Given the description of an element on the screen output the (x, y) to click on. 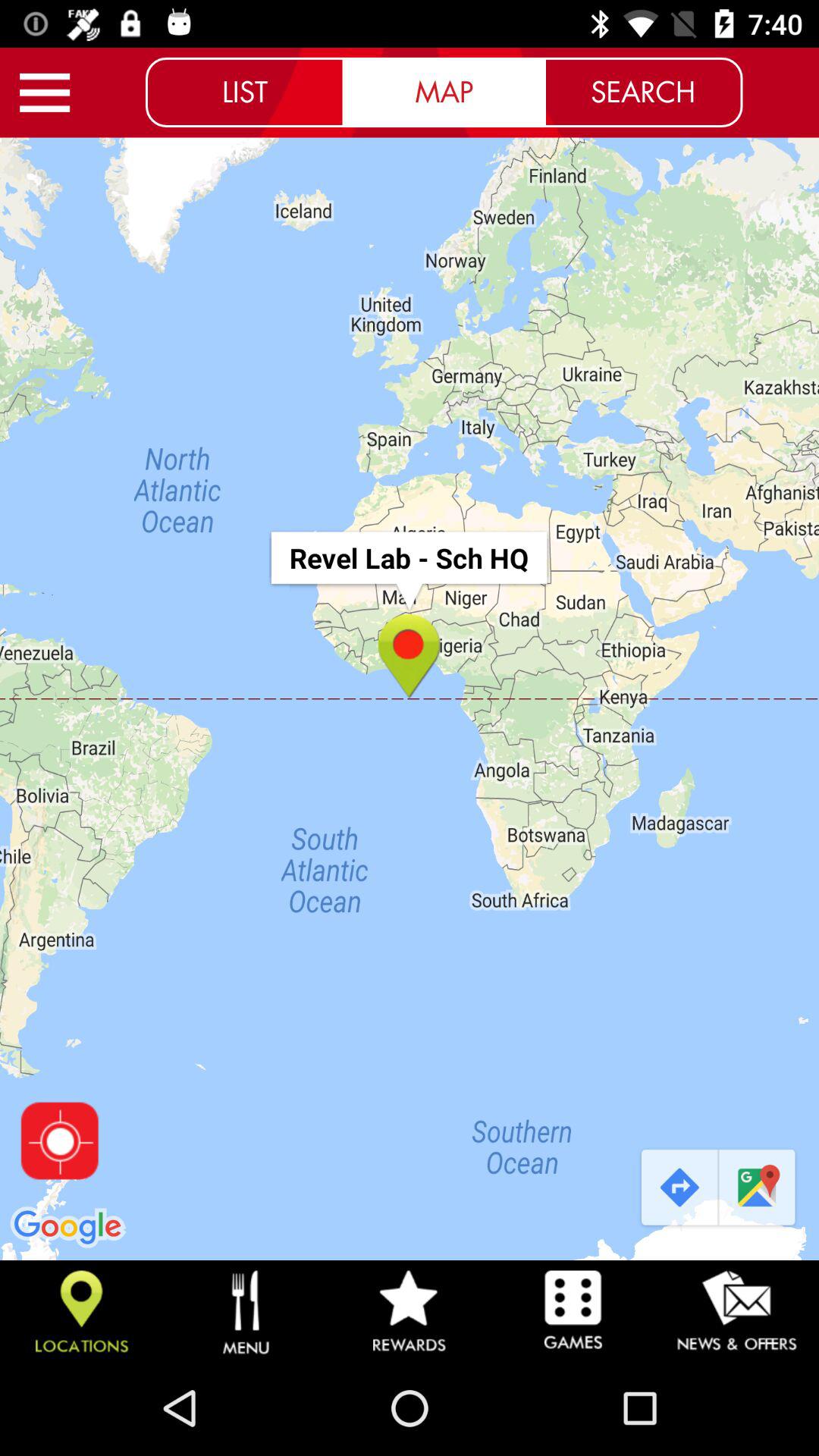
turn on the item below search (677, 1188)
